Given the description of an element on the screen output the (x, y) to click on. 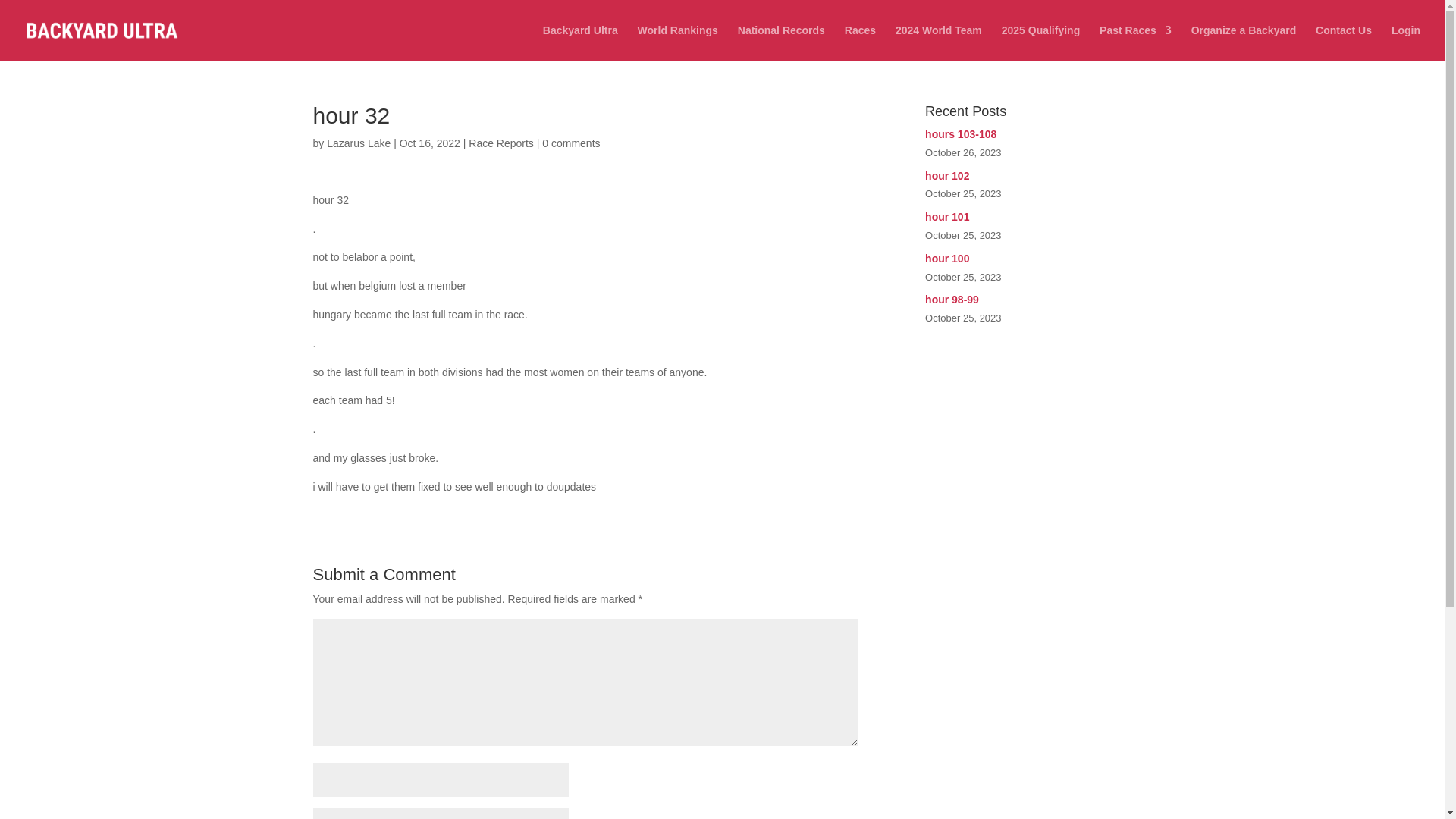
Organize a Backyard (1244, 42)
National Records (781, 42)
Race Reports (501, 143)
Contact Us (1343, 42)
hour 102 (1027, 176)
World Rankings (677, 42)
Lazarus Lake (358, 143)
hours 103-108 (1027, 135)
hour 100 (1027, 259)
hour 101 (1027, 217)
Backyard Ultra (580, 42)
2024 World Team (938, 42)
0 comments (570, 143)
2025 Qualifying (1040, 42)
Past Races (1135, 42)
